Given the description of an element on the screen output the (x, y) to click on. 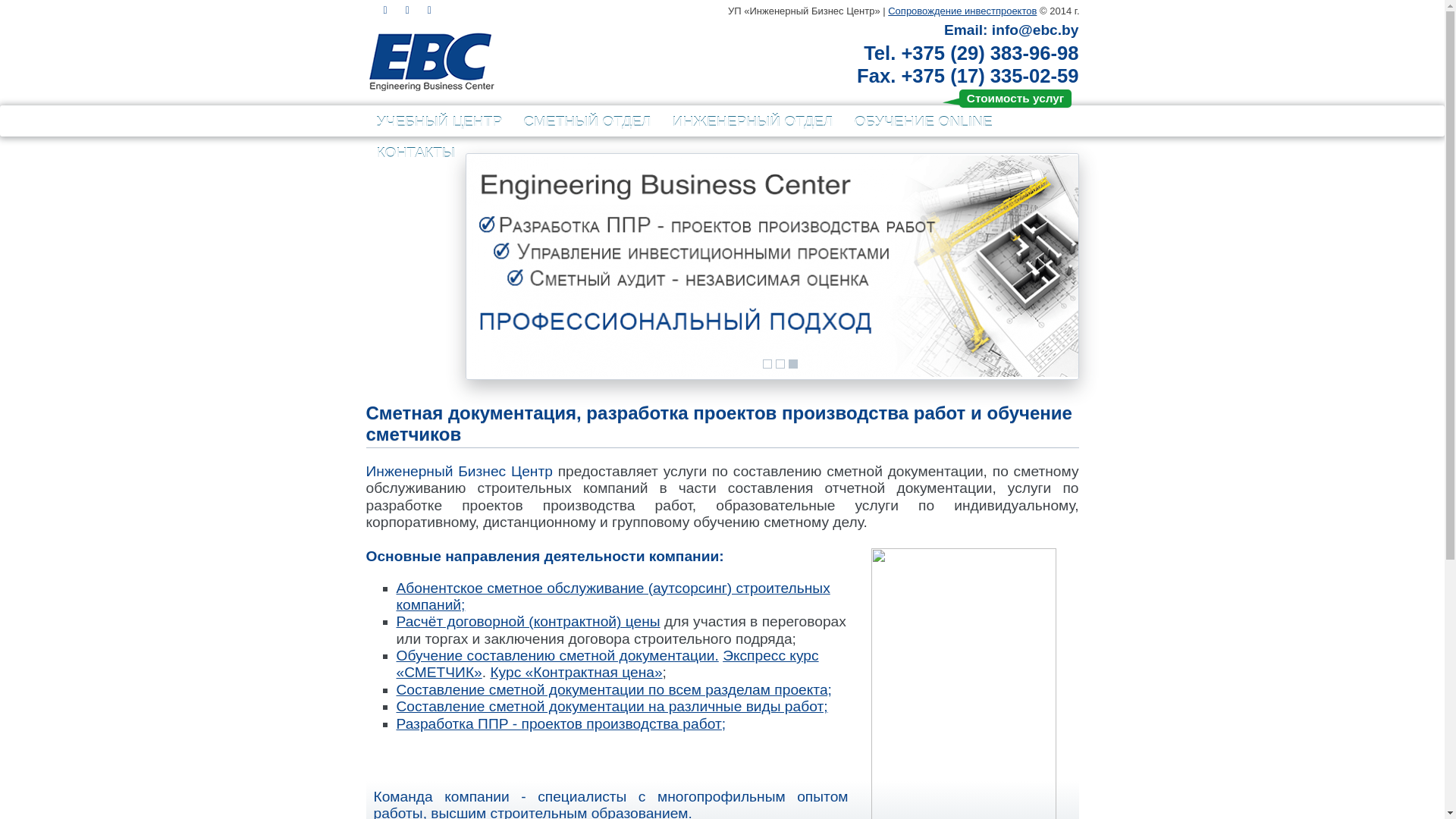
3 Element type: text (792, 363)
2 Element type: text (779, 363)
1 Element type: text (766, 363)
